Given the description of an element on the screen output the (x, y) to click on. 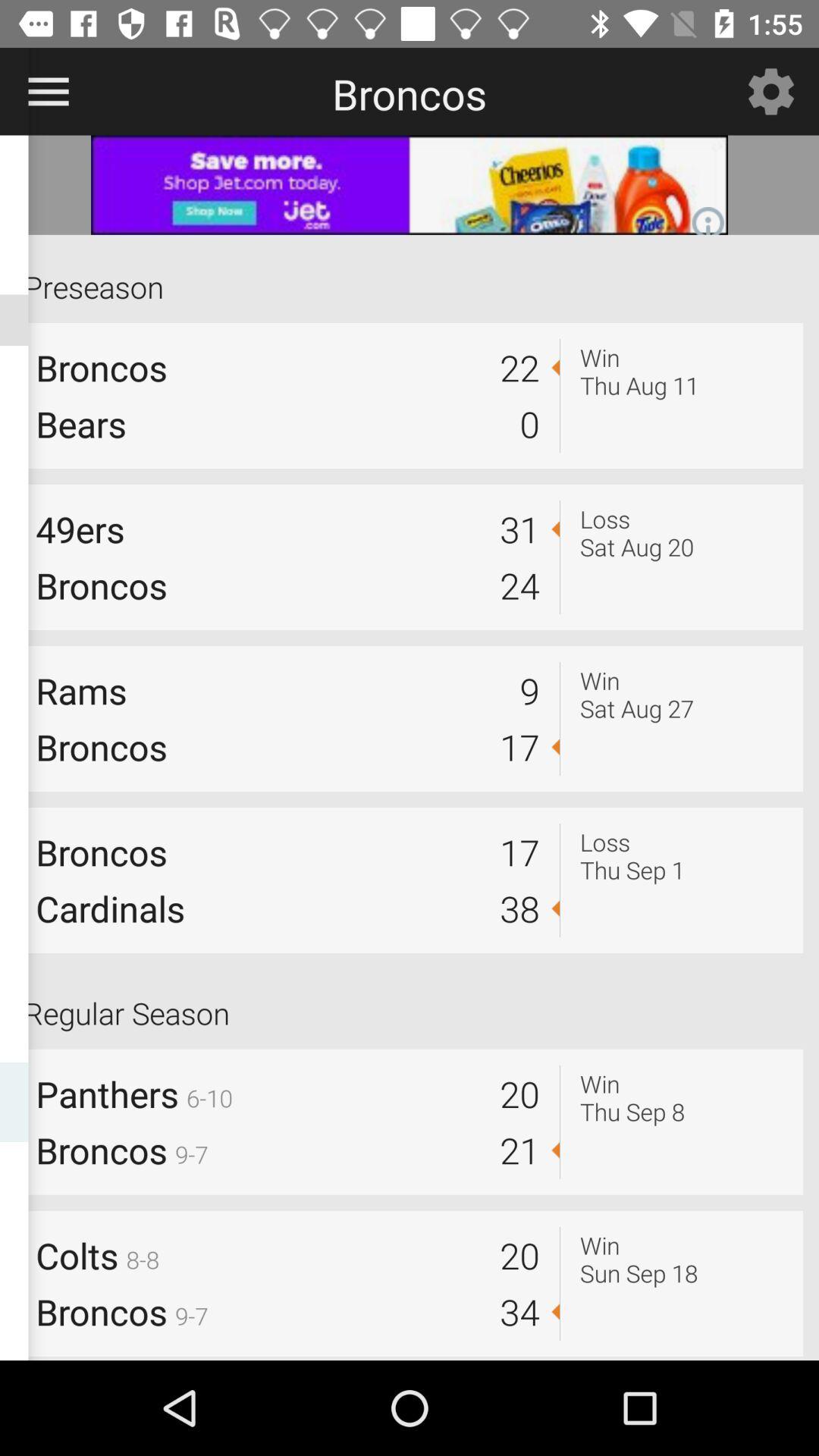
advertisement banner (409, 184)
